Given the description of an element on the screen output the (x, y) to click on. 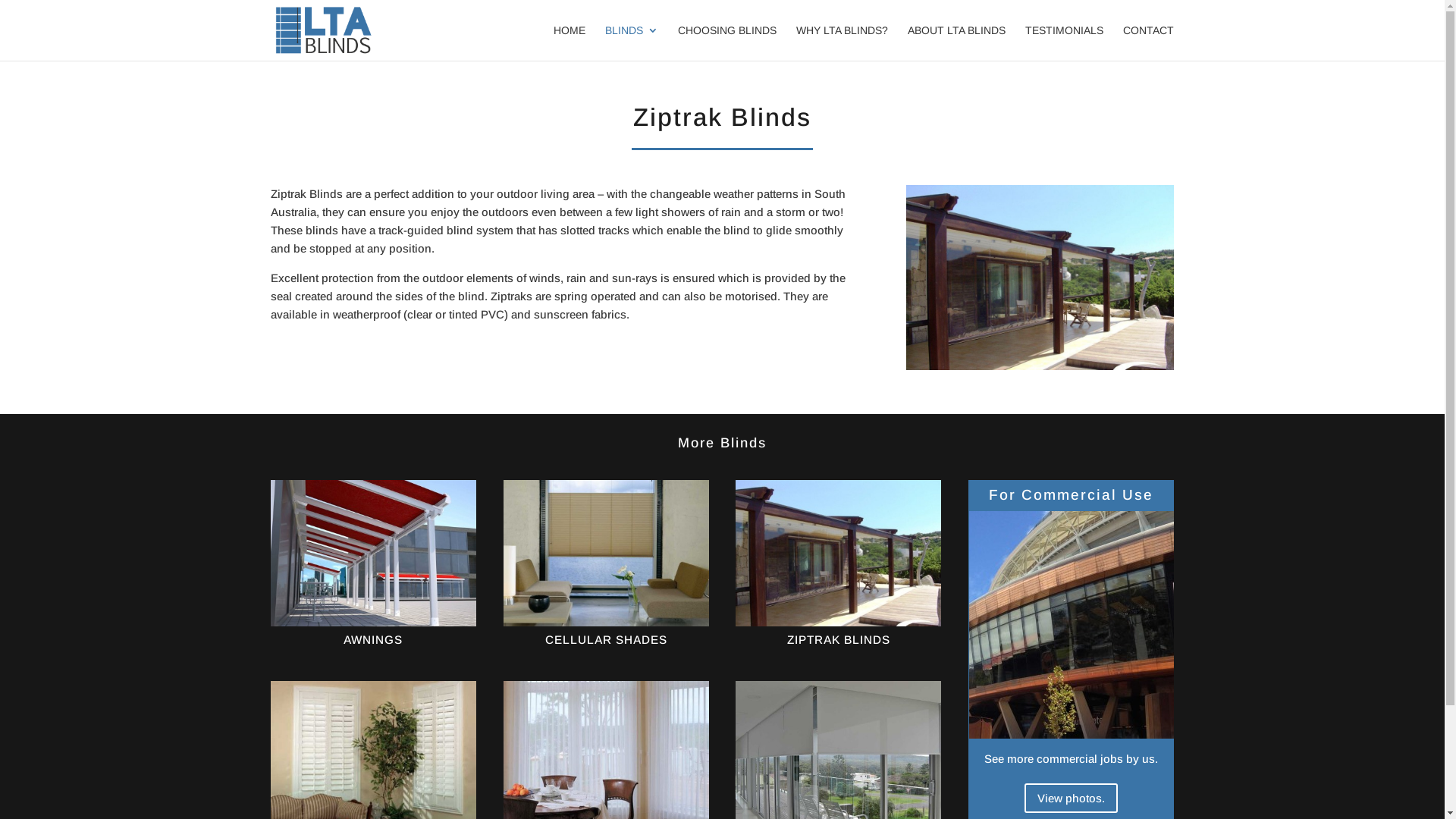
ABOUT LTA BLINDS Element type: text (956, 42)
View photos. Element type: text (1070, 797)
TESTIMONIALS Element type: text (1064, 42)
BLINDS Element type: text (631, 42)
HOME Element type: text (569, 42)
WHY LTA BLINDS? Element type: text (842, 42)
AWNINGS Element type: text (372, 639)
ZIPTRAK BLINDS Element type: text (838, 639)
Cellular Shades Element type: hover (606, 552)
CHOOSING BLINDS Element type: text (726, 42)
Awnings Element type: hover (373, 552)
CONTACT Element type: text (1148, 42)
Ziptrak Blinds Element type: hover (838, 552)
CELLULAR SHADES Element type: text (606, 639)
